Given the description of an element on the screen output the (x, y) to click on. 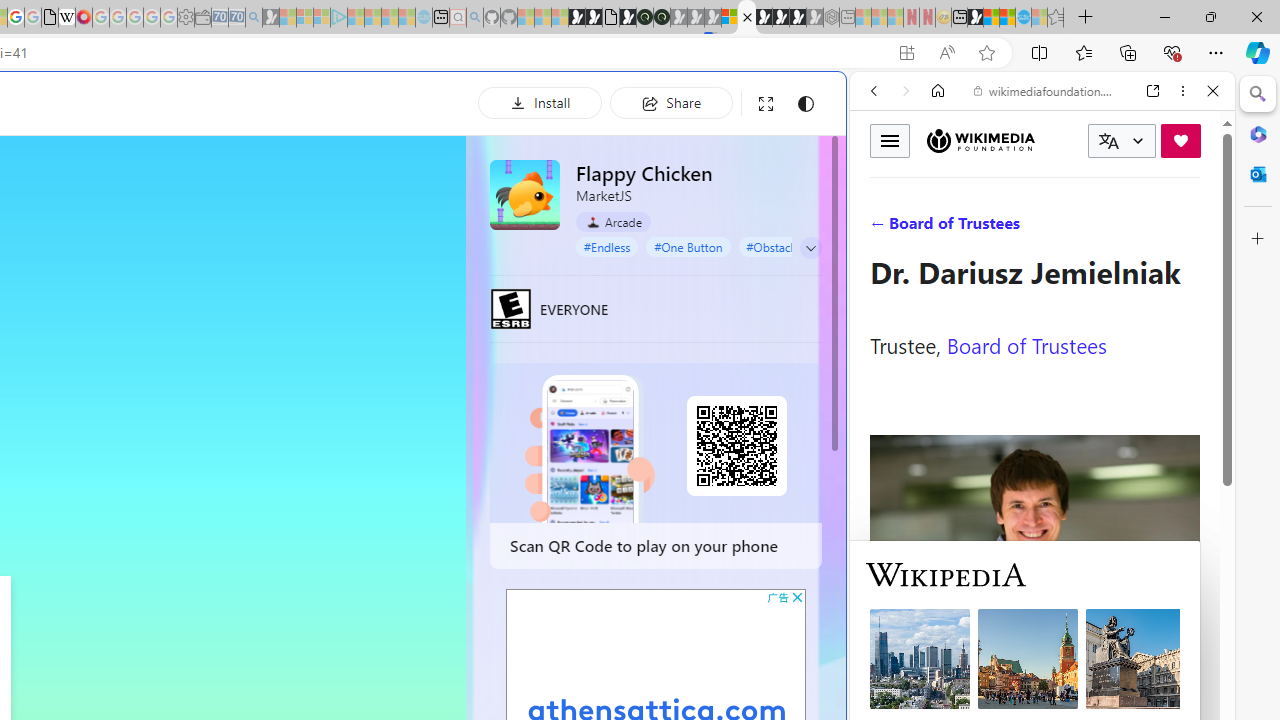
CURRENT LANGUAGE: (1121, 141)
SEARCH TOOLS (1093, 228)
Earth has six continents not seven, radical new study claims (1007, 17)
Install (540, 102)
WEB   (882, 228)
Target page - Wikipedia (66, 17)
